Given the description of an element on the screen output the (x, y) to click on. 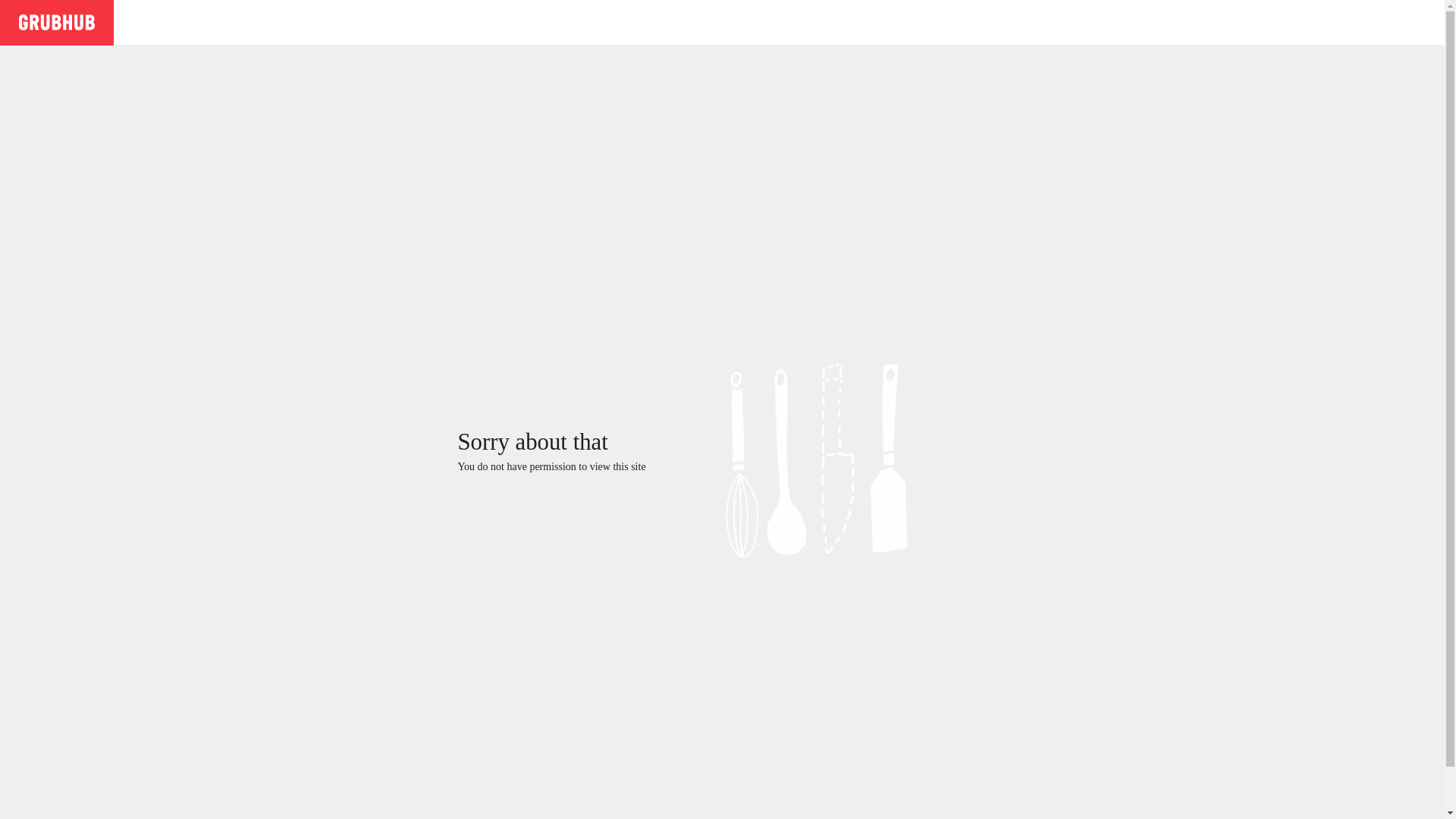
grubhub (56, 21)
